Given the description of an element on the screen output the (x, y) to click on. 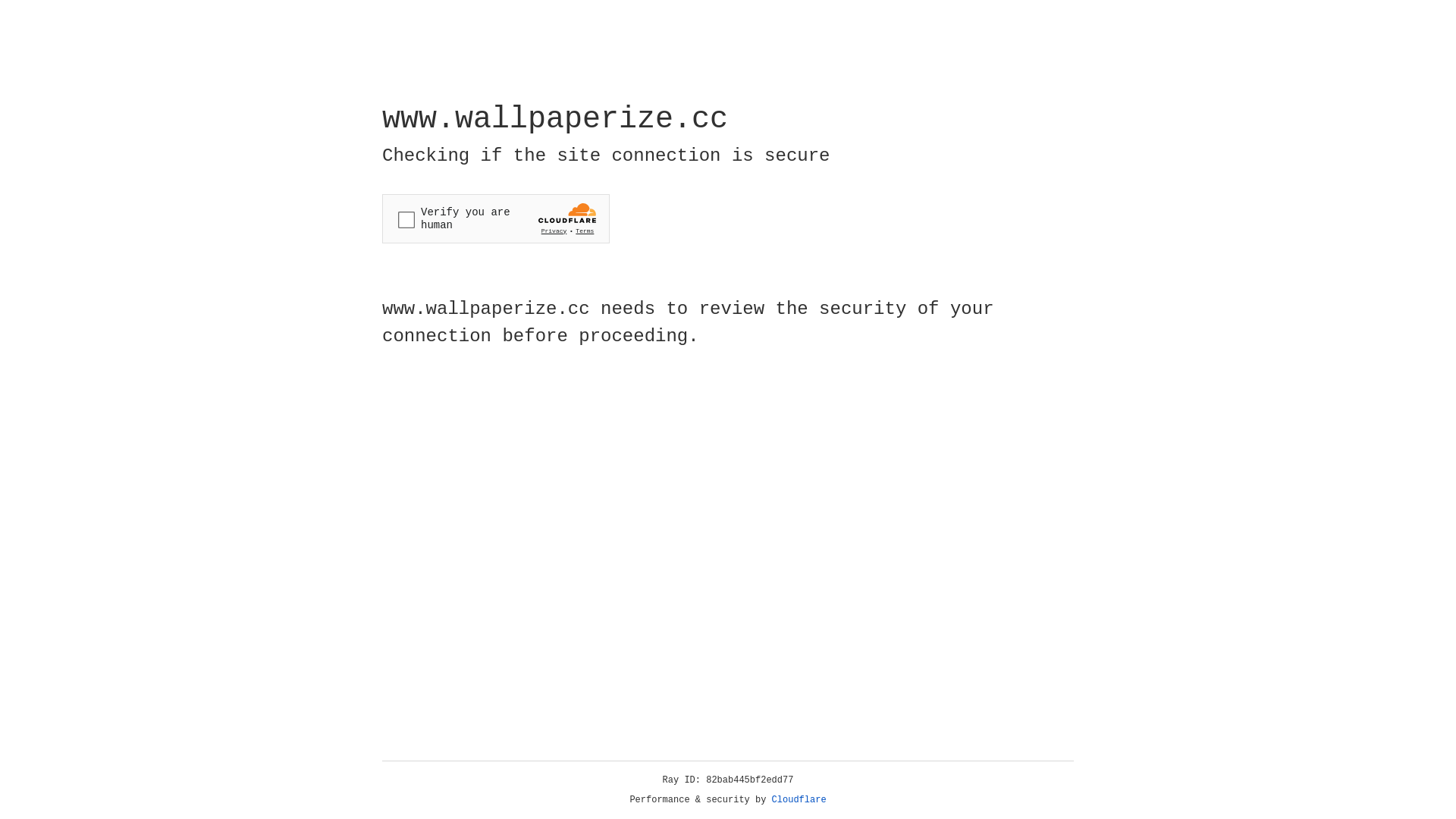
Cloudflare Element type: text (798, 799)
Widget containing a Cloudflare security challenge Element type: hover (495, 218)
